Given the description of an element on the screen output the (x, y) to click on. 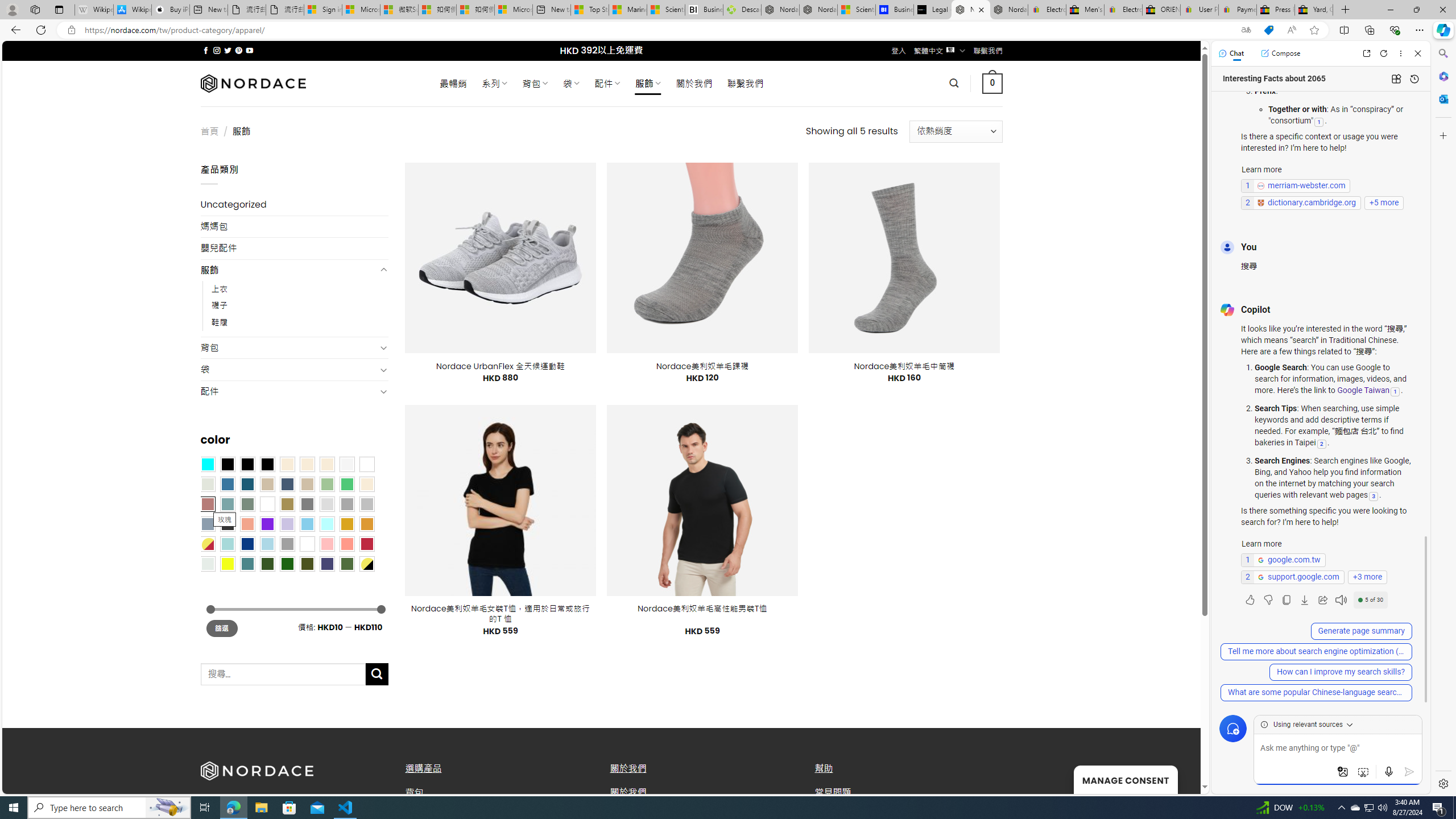
  0   (992, 83)
